Given the description of an element on the screen output the (x, y) to click on. 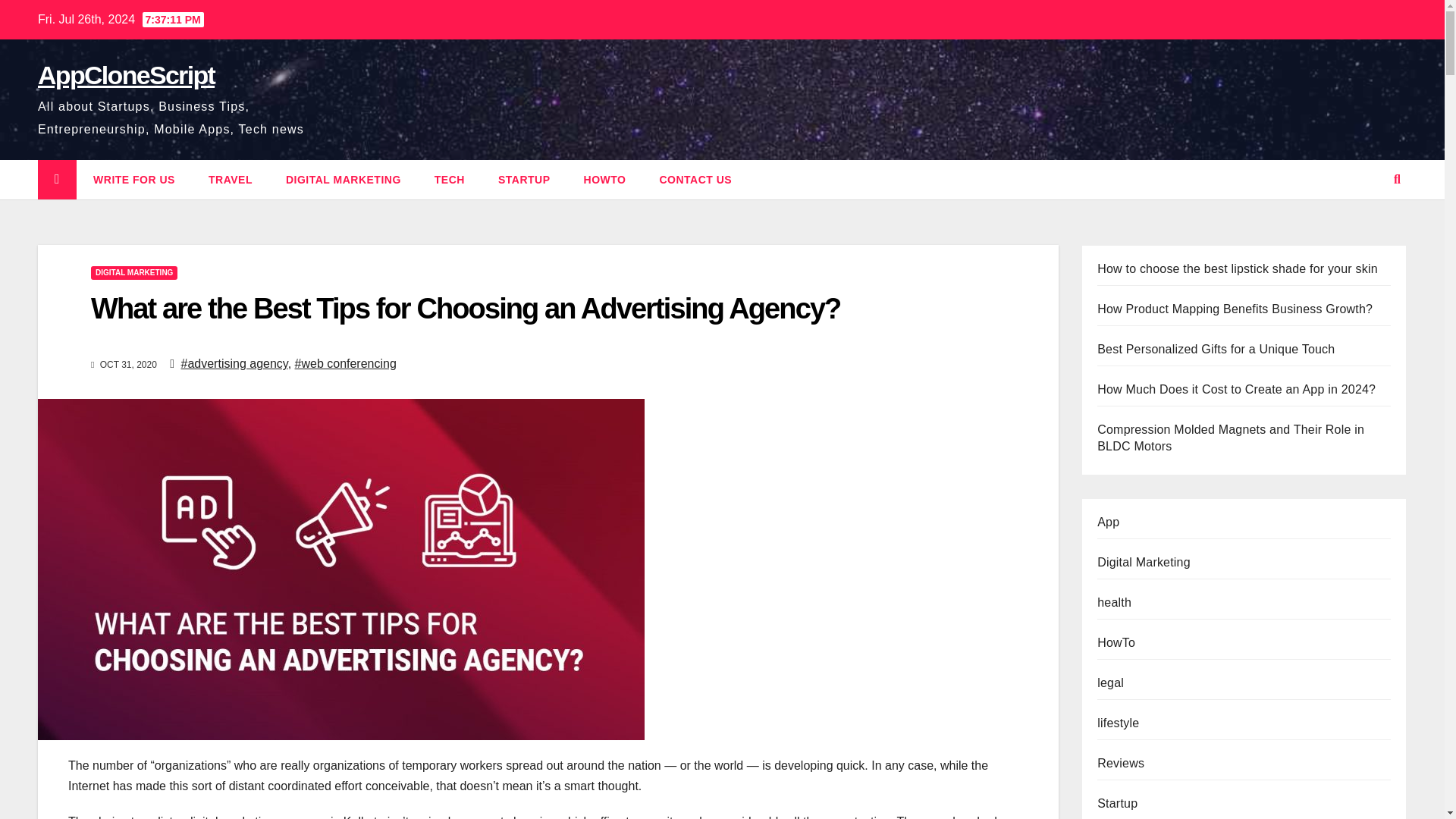
Startup (524, 179)
TECH (449, 179)
CONTACT US (695, 179)
Tech (449, 179)
Contact Us (695, 179)
Travel (230, 179)
HowTo (605, 179)
DIGITAL MARKETING (133, 273)
TRAVEL (230, 179)
STARTUP (524, 179)
What are the Best Tips for Choosing an Advertising Agency? (465, 308)
Write for us (134, 179)
AppCloneScript (125, 74)
Digital Marketing (343, 179)
